Given the description of an element on the screen output the (x, y) to click on. 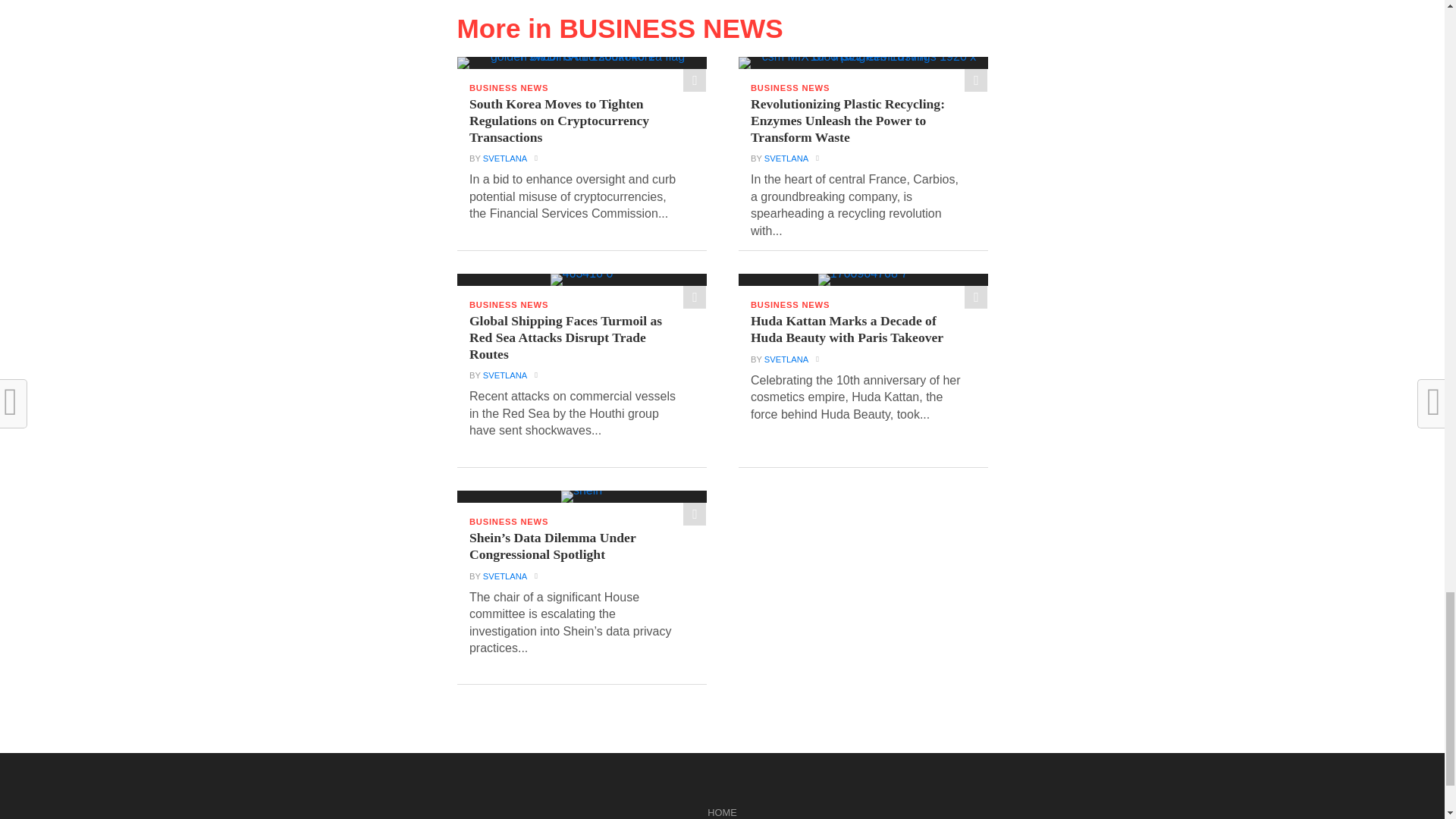
Posts by svetlana (786, 157)
SVETLANA (505, 375)
SVETLANA (786, 157)
Posts by svetlana (505, 157)
SVETLANA (505, 157)
